Given the description of an element on the screen output the (x, y) to click on. 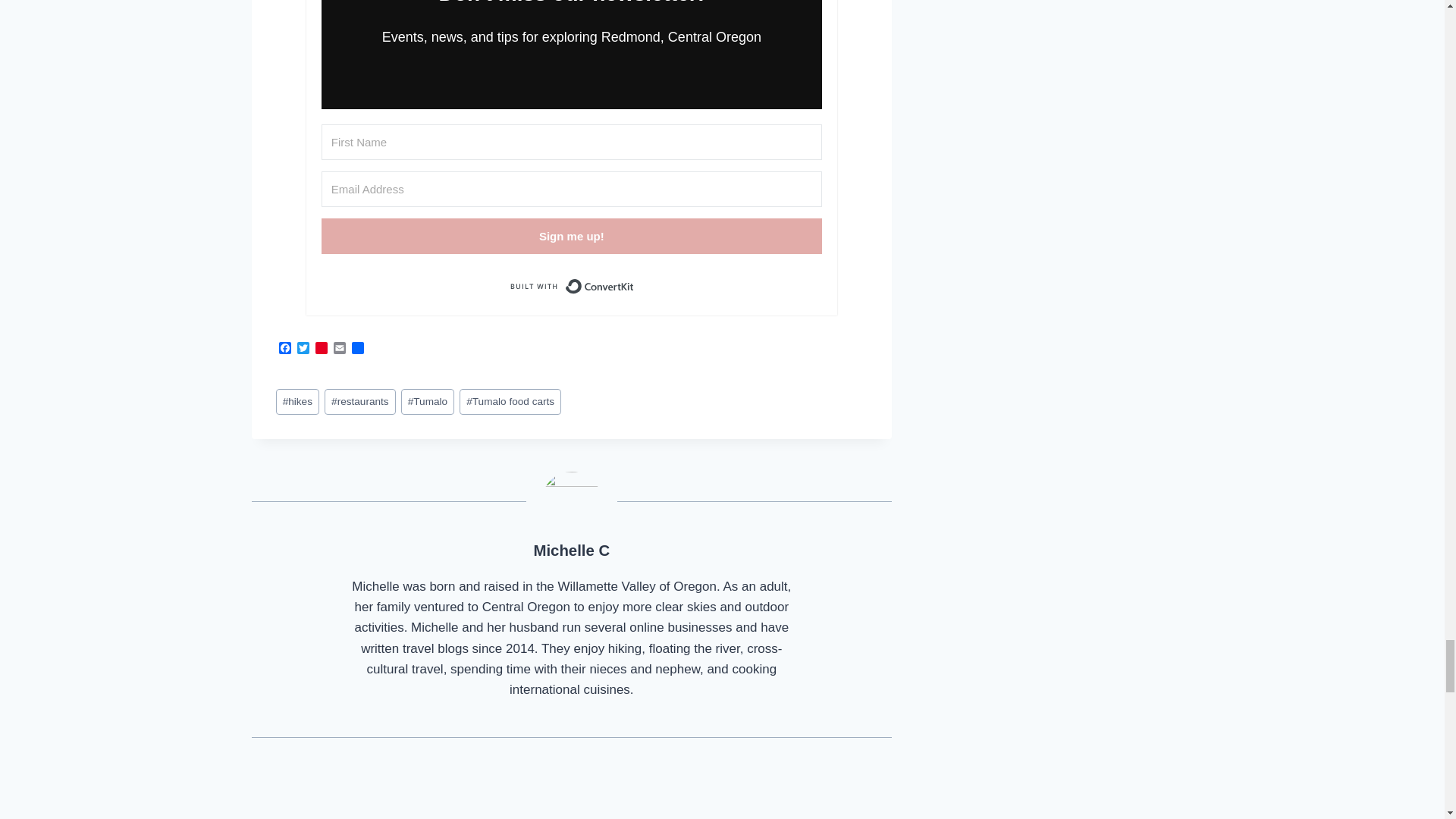
Pinterest (321, 349)
Sign me up! (571, 235)
hikes (298, 402)
Email (339, 349)
Tumalo (427, 402)
Facebook (285, 349)
Twitter (303, 349)
Tumalo food carts (510, 402)
restaurants (360, 402)
